Given the description of an element on the screen output the (x, y) to click on. 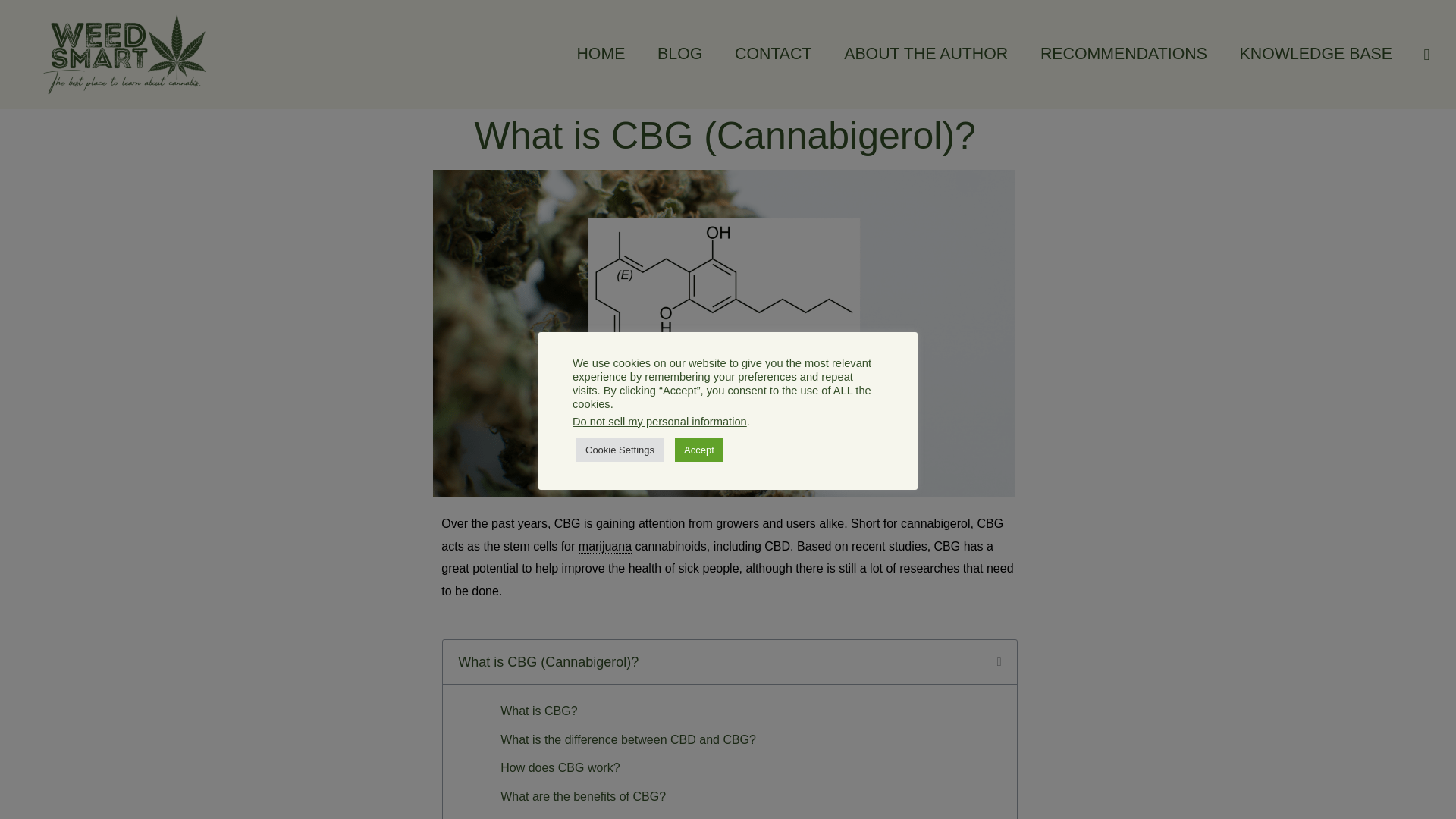
CONTACT (773, 53)
What cultivars are rich in CBG? (584, 816)
BLOG (680, 53)
marijuana (604, 546)
What is CBG? (538, 711)
ABOUT THE AUTHOR (926, 53)
What are the benefits of CBG? (582, 796)
HOME (601, 53)
What is the difference between CBD and CBG? (627, 739)
KNOWLEDGE BASE (1315, 53)
How does CBG work? (560, 767)
RECOMMENDATIONS (1124, 53)
